Given the description of an element on the screen output the (x, y) to click on. 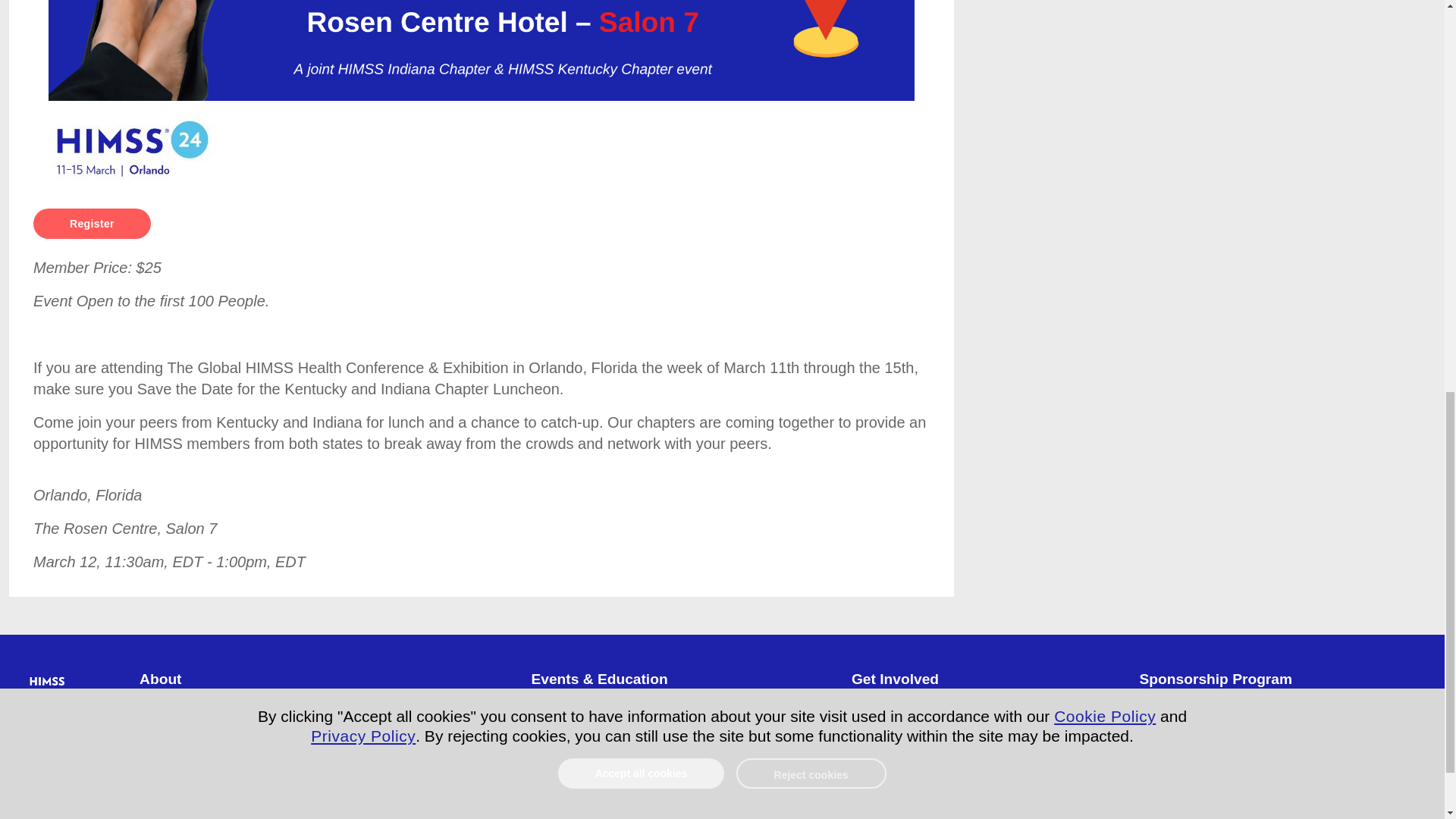
Himss.org (71, 701)
